Given the description of an element on the screen output the (x, y) to click on. 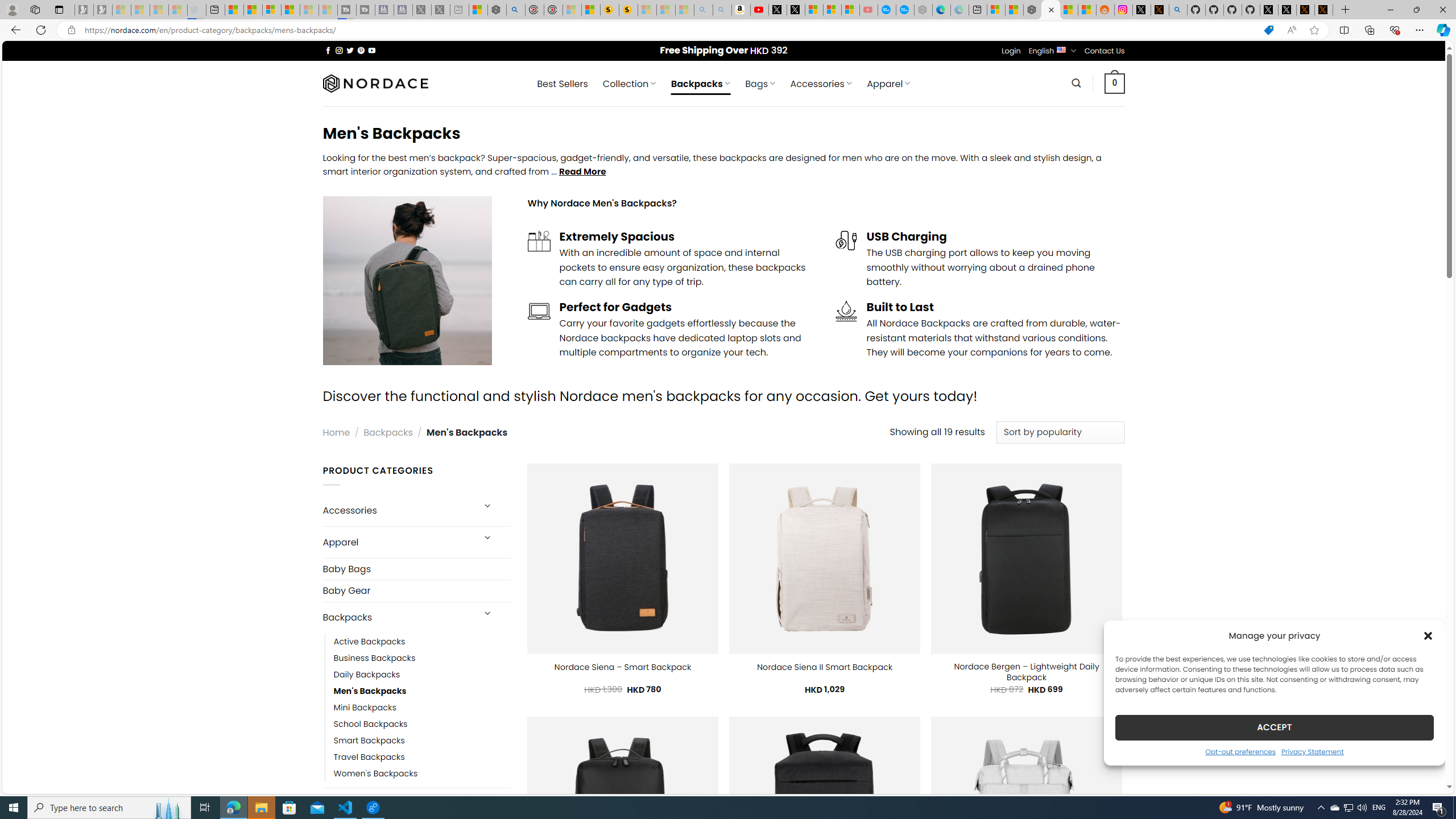
Contact Us (1104, 50)
Daily Backpacks (366, 674)
Mini Backpacks (364, 706)
Nordace - Summer Adventures 2024 (497, 9)
Travel Backpacks (422, 756)
Follow on YouTube (371, 49)
Shop order (1060, 432)
Log in to X / X (1142, 9)
github - Search (1178, 9)
